Given the description of an element on the screen output the (x, y) to click on. 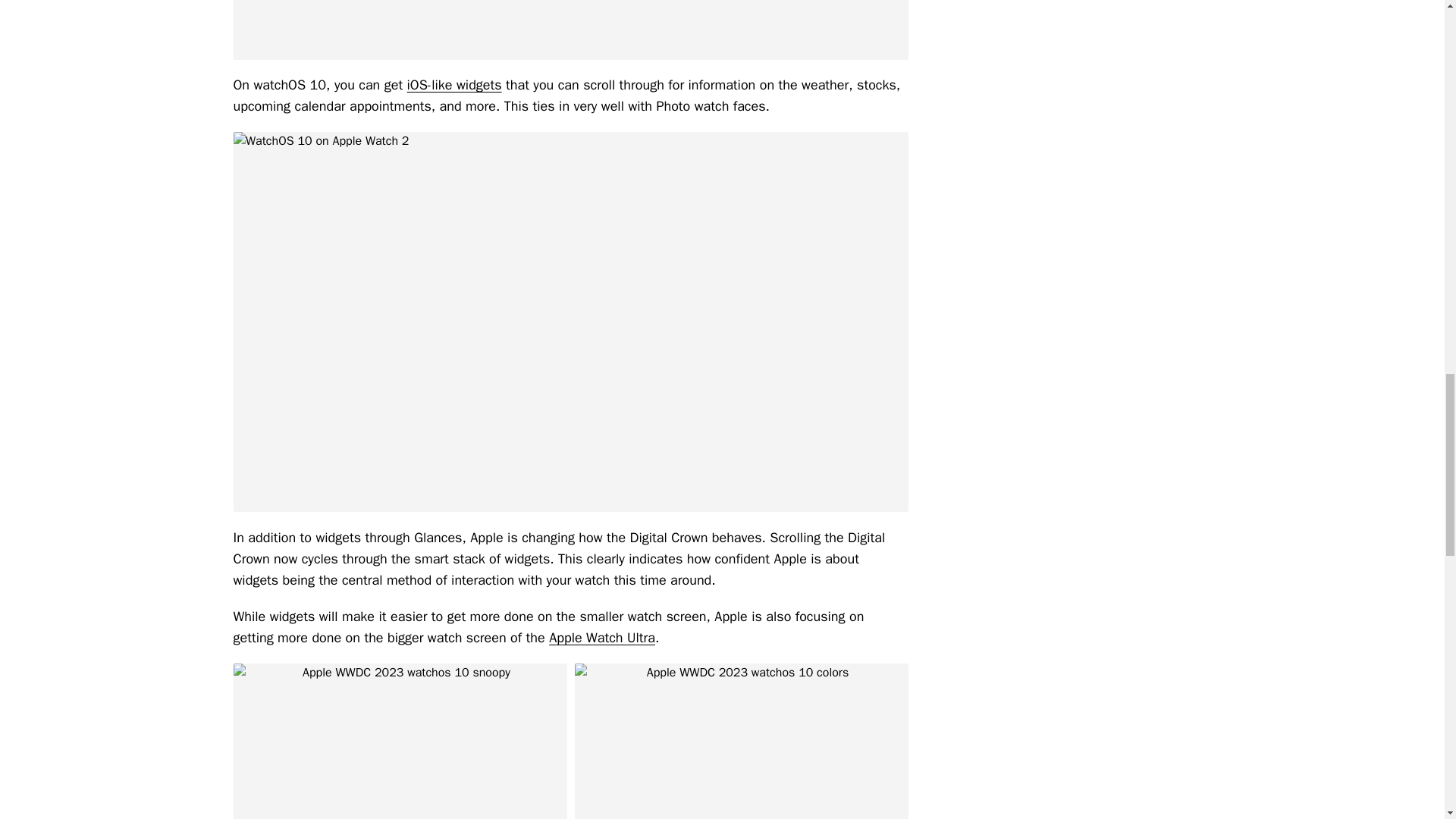
iOS-like widgets (454, 84)
Apple WWDC 2023 watchos 10 snoopy (399, 741)
WatchOS 10 on Apple Watch 3 (570, 29)
Apple WWDC 2023 watchos 10 colors (741, 741)
Apple Watch Ultra (601, 637)
